Given the description of an element on the screen output the (x, y) to click on. 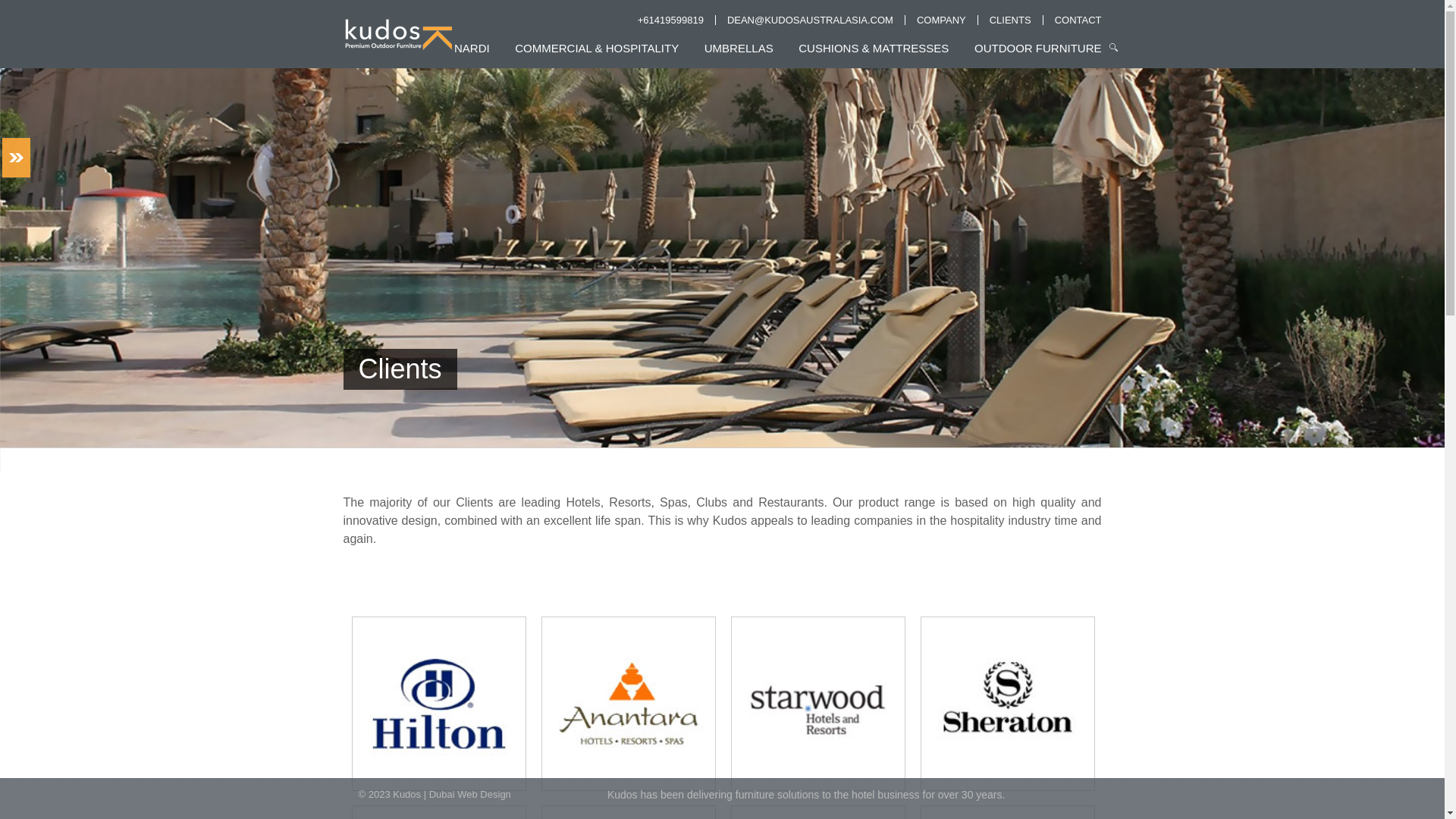
NARDI Element type: text (471, 52)
COMMERCIAL & HOSPITALITY Element type: text (596, 52)
  Element type: text (15, 157)
CUSHIONS & MATTRESSES Element type: text (873, 52)
DEAN@KUDOSAUSTRALASIA.COM Element type: text (810, 20)
+61419599819 Element type: text (670, 20)
UMBRELLAS Element type: text (738, 52)
COMPANY Element type: text (941, 20)
Dubai Web Design Element type: text (470, 794)
OUTDOOR FURNITURE Element type: text (1037, 52)
CONTACT Element type: text (1077, 20)
CLIENTS Element type: text (1010, 20)
